Given the description of an element on the screen output the (x, y) to click on. 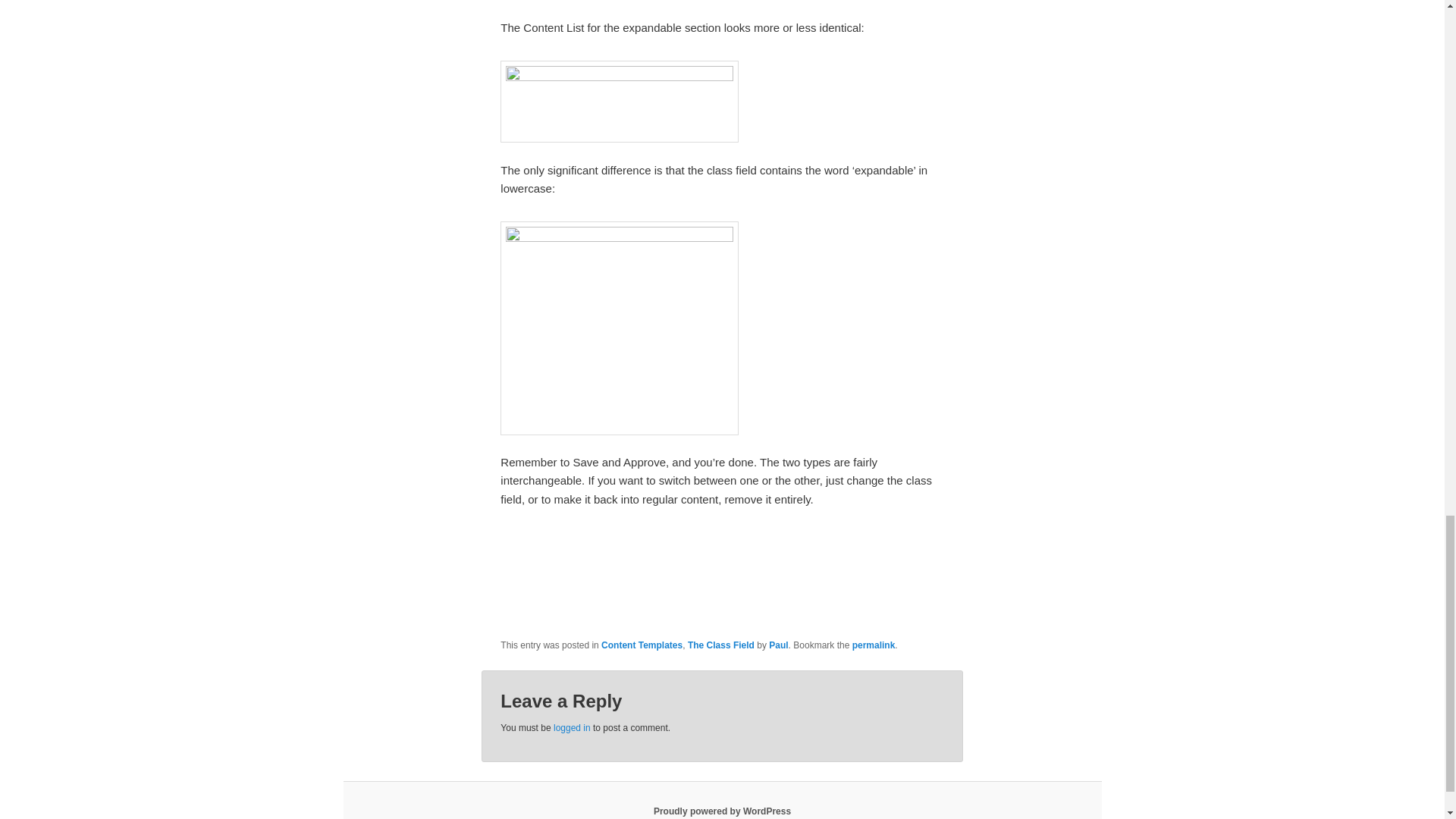
Semantic Personal Publishing Platform (721, 810)
Proudly powered by WordPress (721, 810)
Permalink to Expandable and Tabbed Content (873, 644)
Paul (777, 644)
Content Templates (641, 644)
permalink (873, 644)
logged in (572, 727)
The Class Field (720, 644)
